Given the description of an element on the screen output the (x, y) to click on. 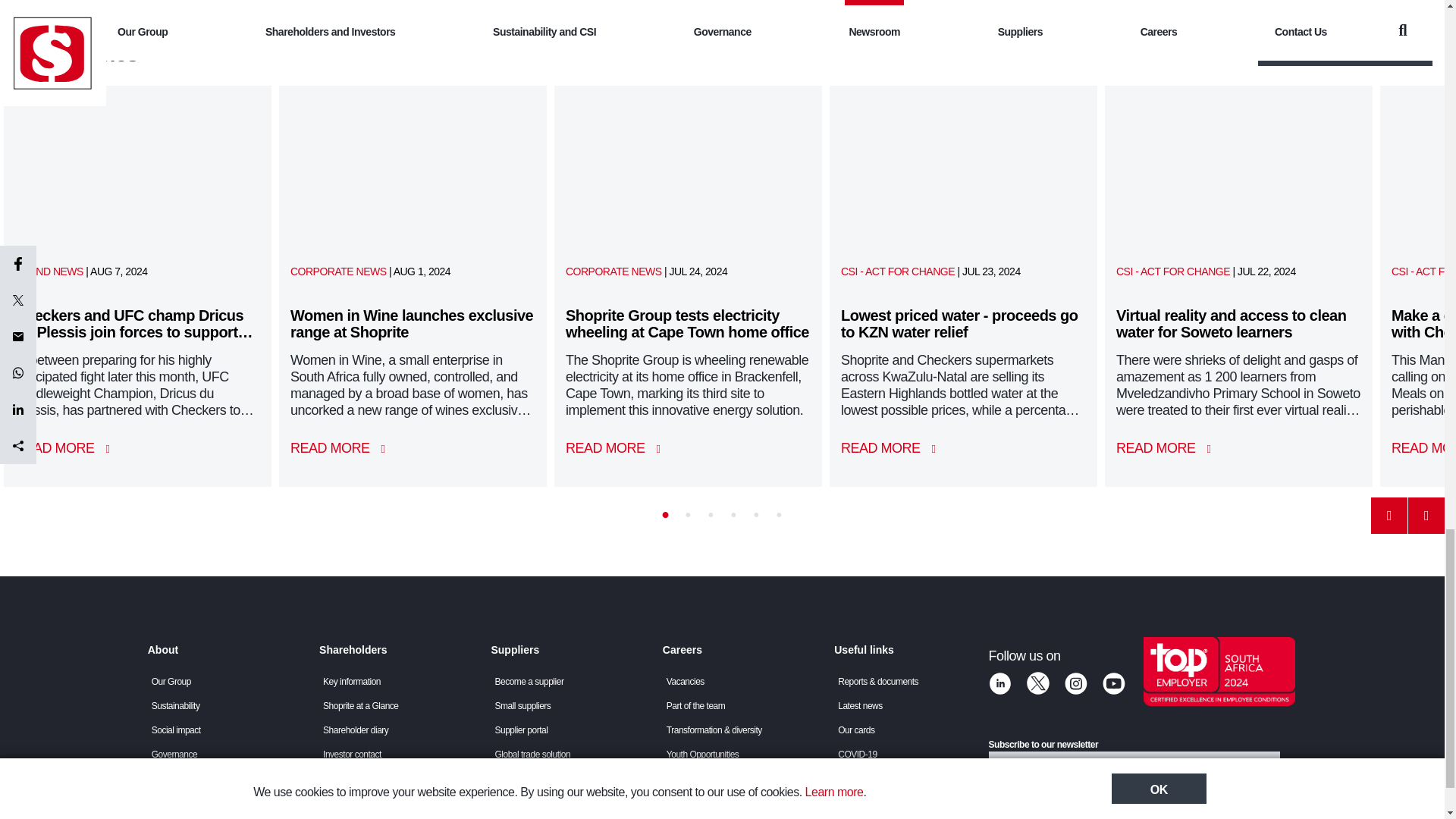
Lowest priced water - proceeds go to KZN water relief  (963, 168)
Women in Wine launches exclusive range at Shoprite  (344, 453)
Women in Wine launches exclusive range at Shoprite  (413, 168)
Lowest priced water - proceeds go to KZN water relief  (895, 453)
